Given the description of an element on the screen output the (x, y) to click on. 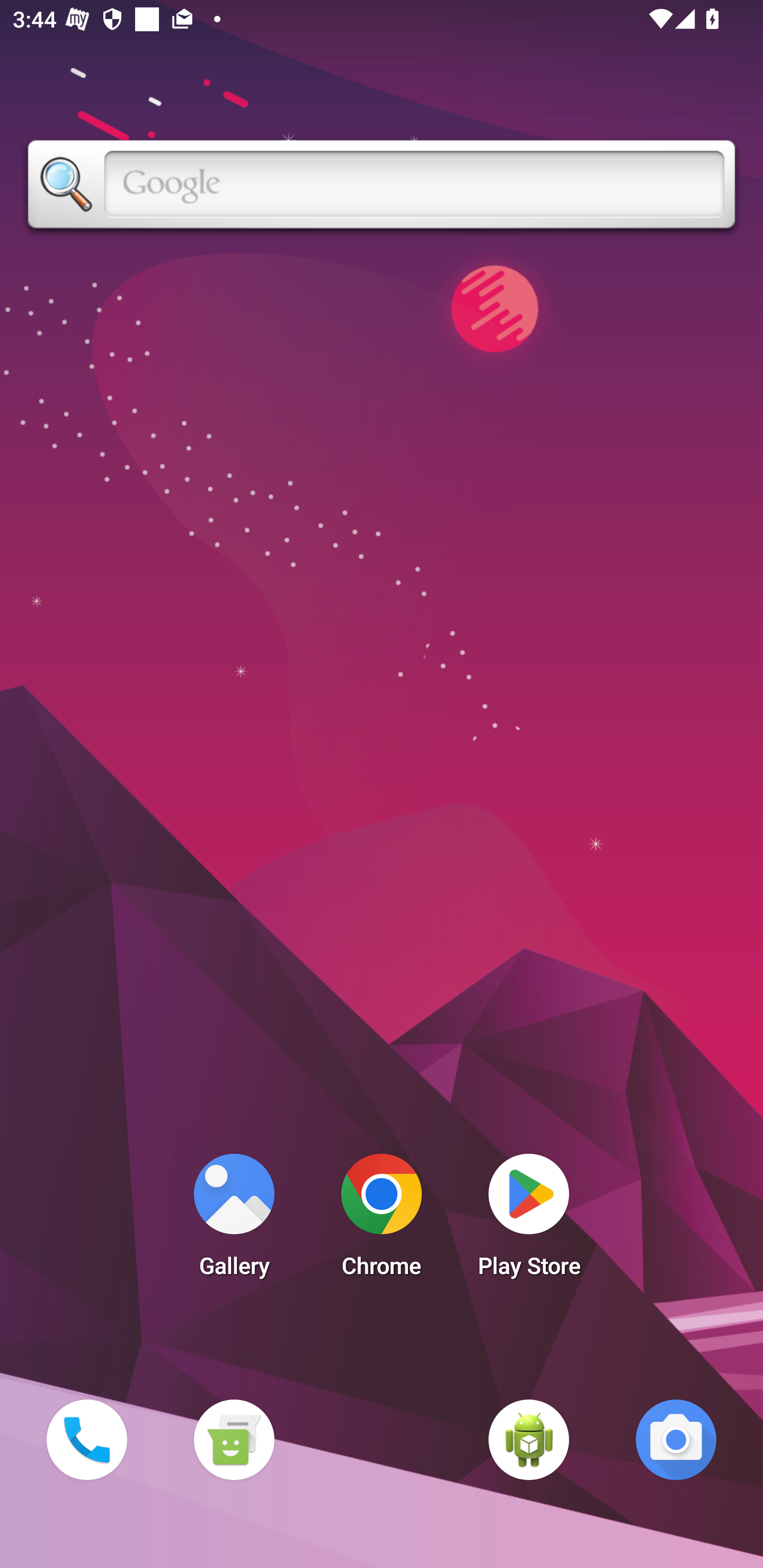
Gallery (233, 1220)
Chrome (381, 1220)
Play Store (528, 1220)
Phone (86, 1439)
Messaging (233, 1439)
WebView Browser Tester (528, 1439)
Camera (676, 1439)
